Given the description of an element on the screen output the (x, y) to click on. 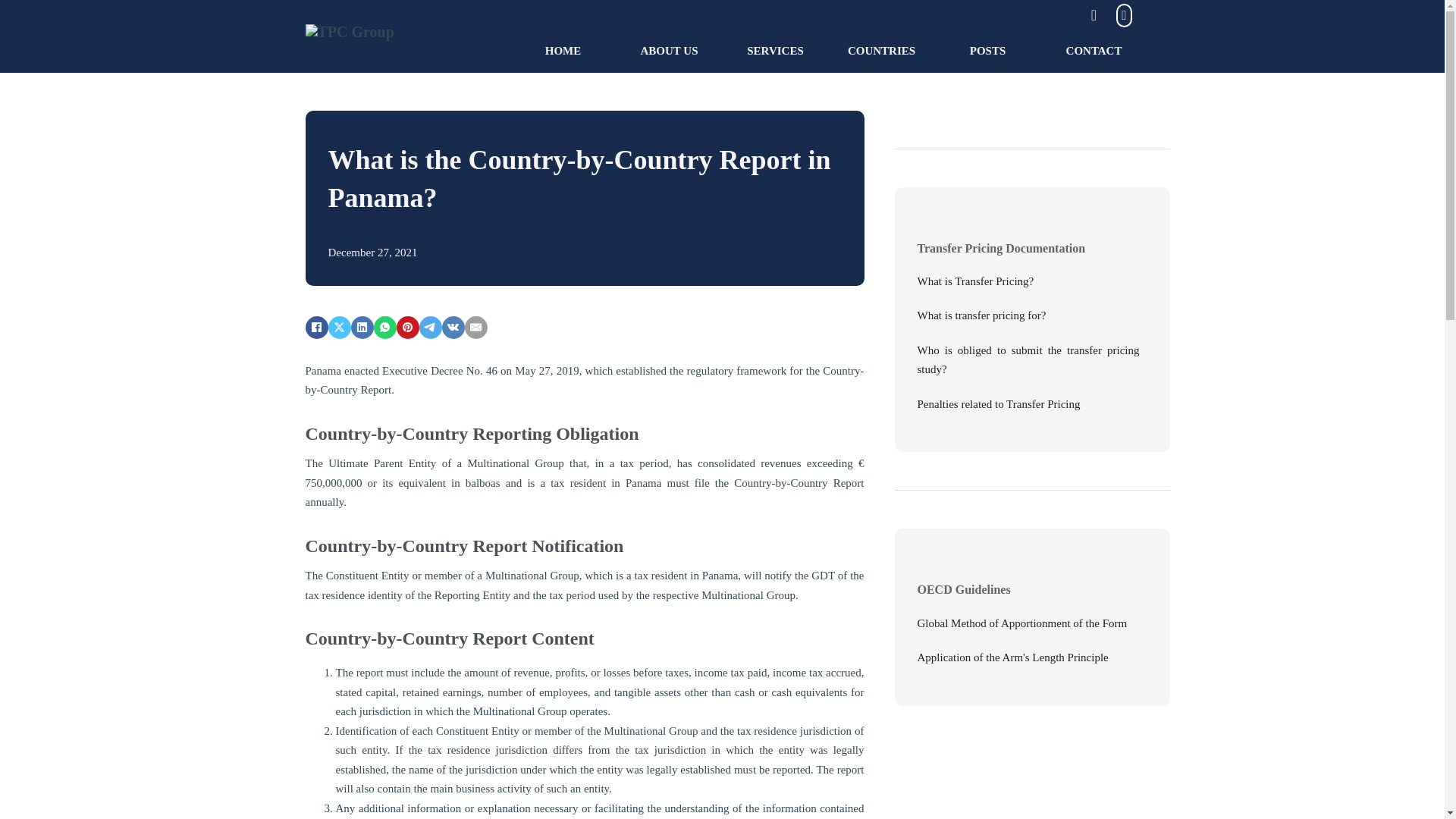
COUNTRIES (881, 51)
SERVICES (774, 51)
HOME (562, 51)
ABOUT US (668, 51)
